Given the description of an element on the screen output the (x, y) to click on. 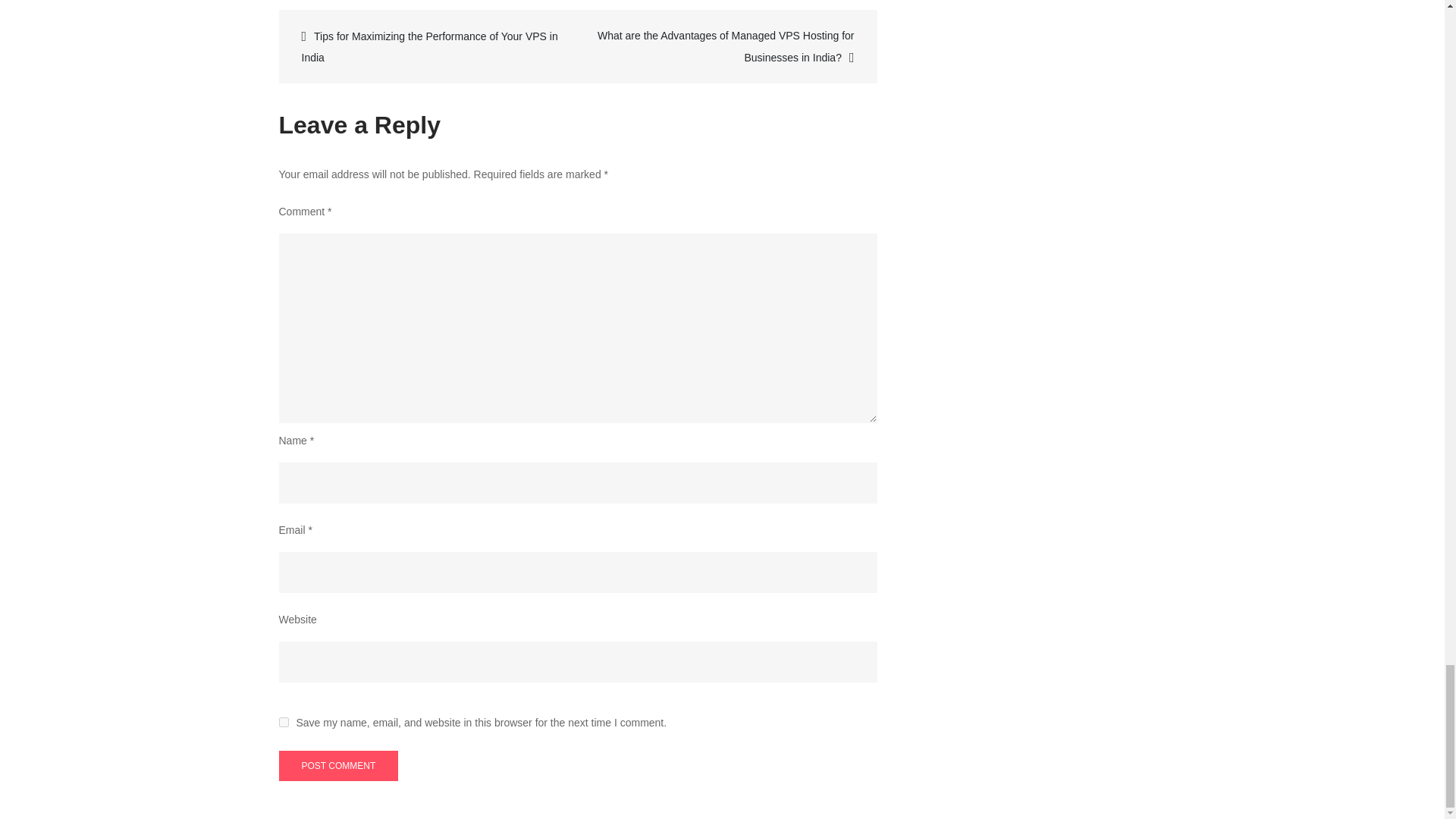
Tips for Maximizing the Performance of Your VPS in India (430, 46)
yes (283, 722)
Post Comment (338, 766)
Post Comment (338, 766)
